Given the description of an element on the screen output the (x, y) to click on. 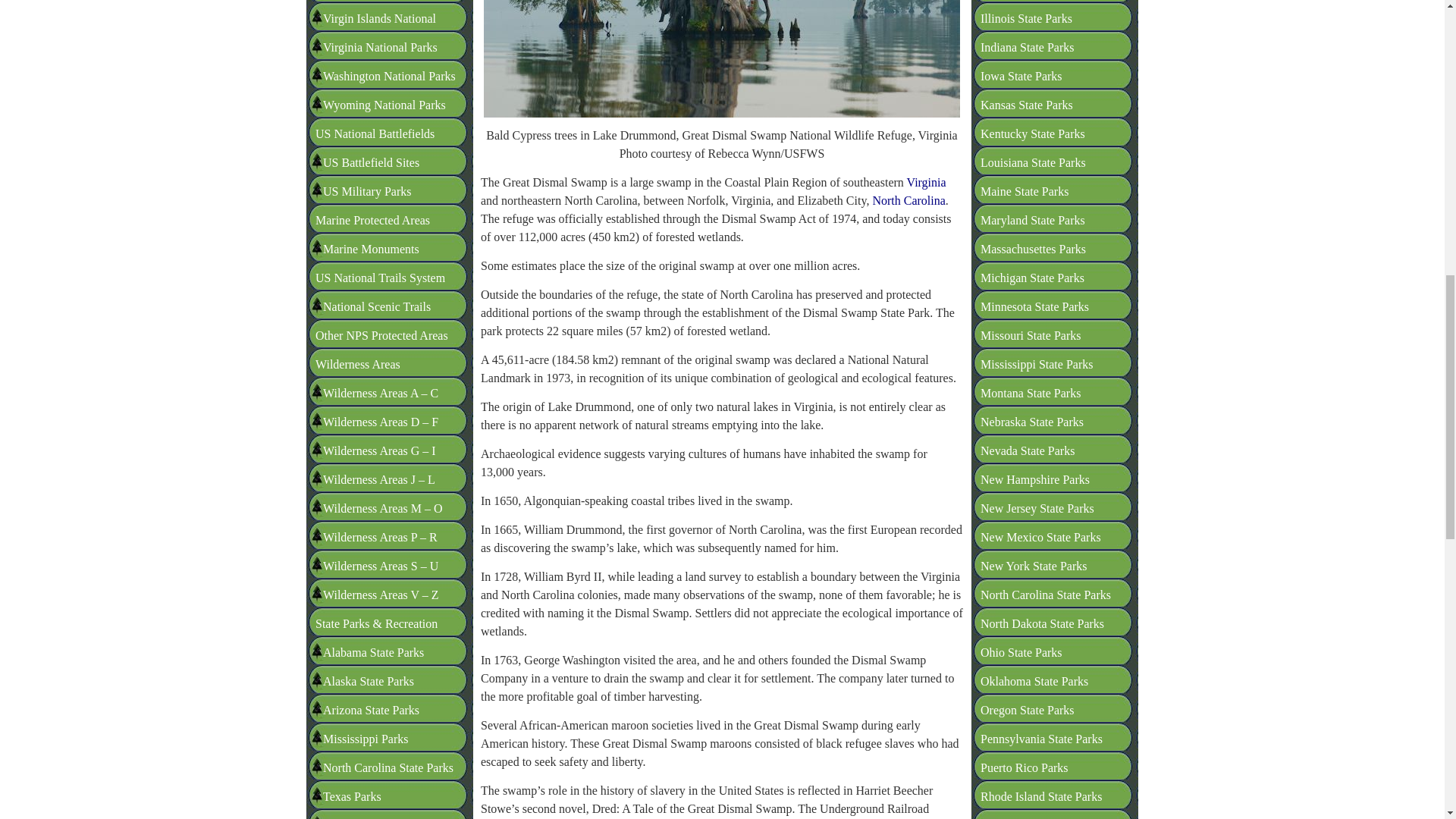
Wilderness Areas (357, 364)
Other NPS Protected Areas (381, 335)
National Scenic Trails (376, 306)
Alabama State Parks (373, 652)
Virgin Islands National (379, 18)
US Battlefield Sites (371, 162)
Marine Monuments (371, 248)
Virginia National Parks (380, 47)
Alaska State Parks (368, 680)
Arizona State Parks (371, 709)
Washington National Parks (389, 75)
US National Battlefields (374, 133)
US National Trails System (380, 277)
Marine Protected Areas (372, 219)
US Military Parks (366, 191)
